Given the description of an element on the screen output the (x, y) to click on. 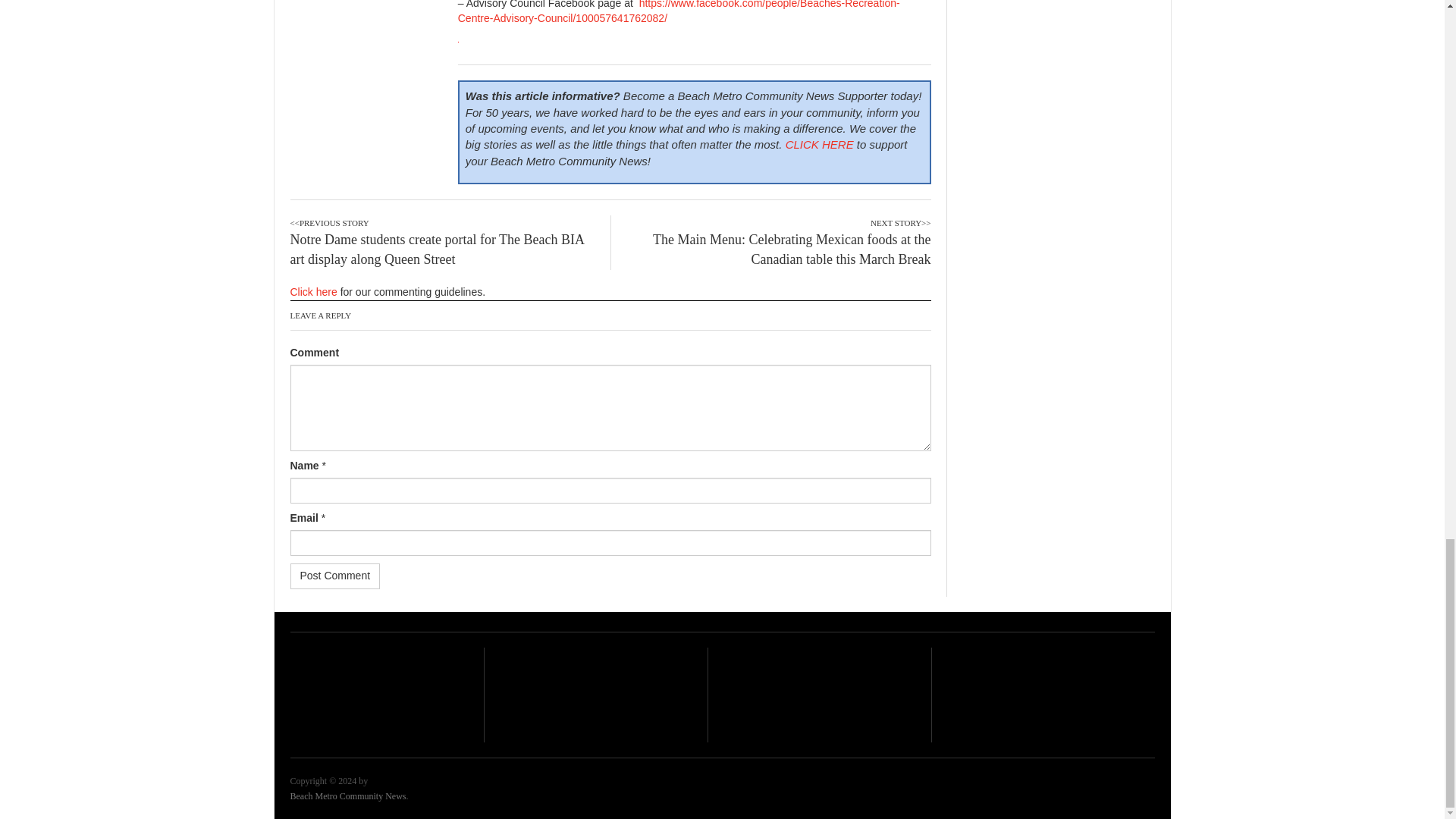
Post Comment (334, 575)
